Given the description of an element on the screen output the (x, y) to click on. 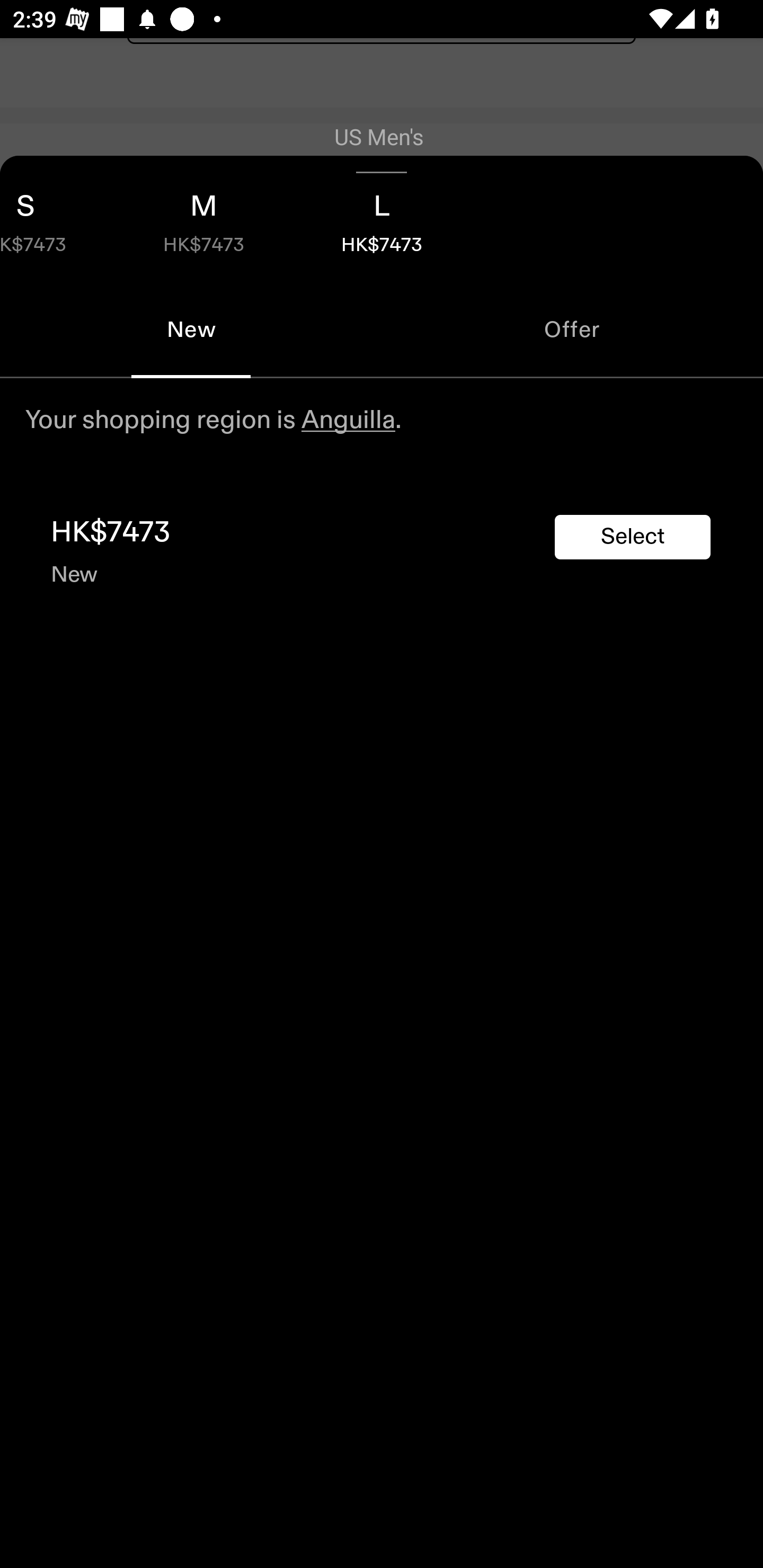
S HK$7473 (57, 218)
M HK$7473 (203, 218)
L HK$7473 (381, 218)
Offer (572, 329)
Select (632, 536)
